Given the description of an element on the screen output the (x, y) to click on. 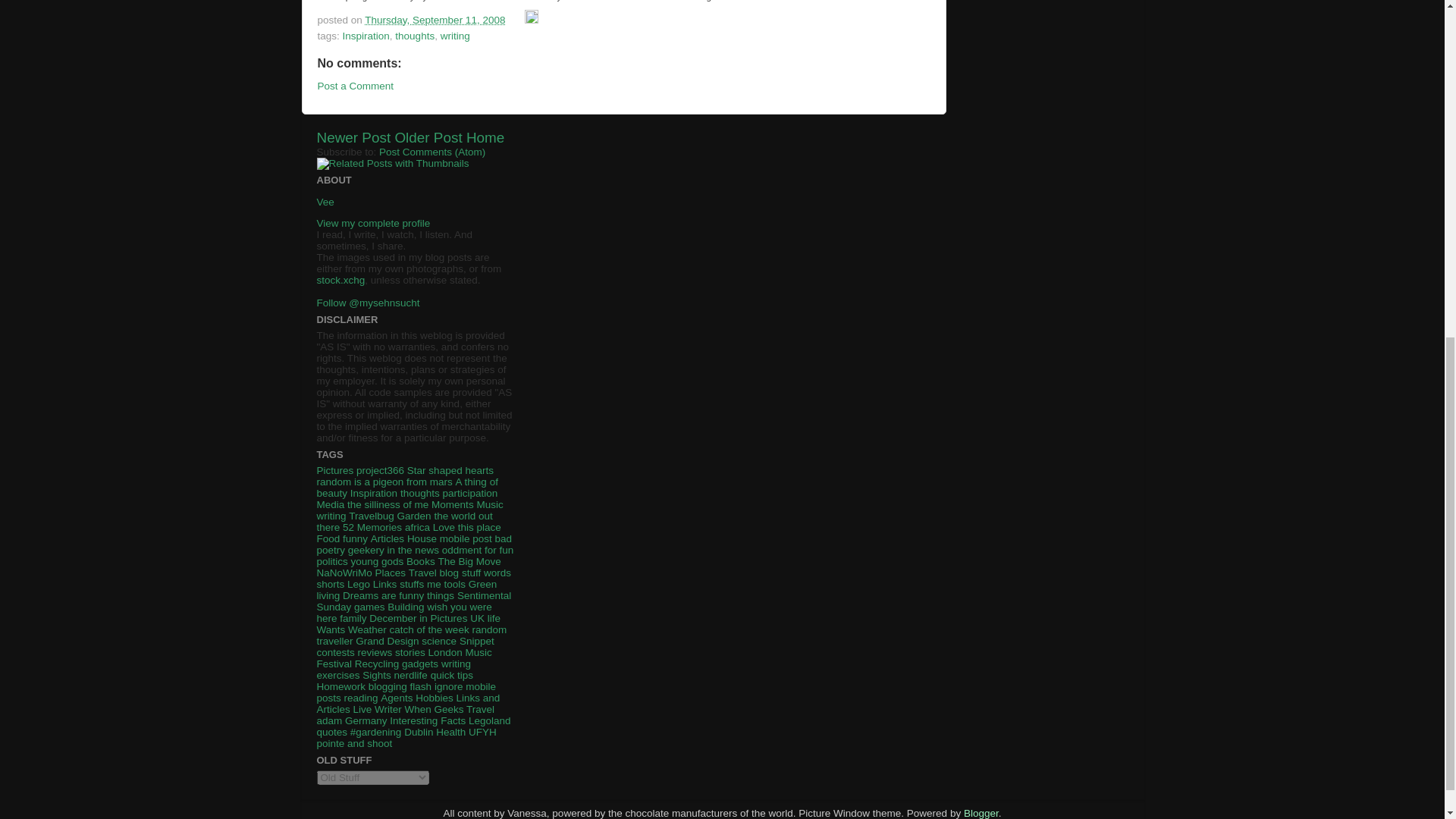
A thing of beauty (407, 486)
Older Post (427, 137)
Home (484, 137)
Inspiration (373, 492)
Pictures (335, 470)
Thursday, September 11, 2008 (435, 19)
participation (469, 492)
Vee (325, 202)
Edit Post (531, 19)
project366 (380, 470)
Email Post (516, 19)
Older Post (427, 137)
View my complete profile (373, 223)
random is a pigeon from mars (384, 481)
permanent link (435, 19)
